Given the description of an element on the screen output the (x, y) to click on. 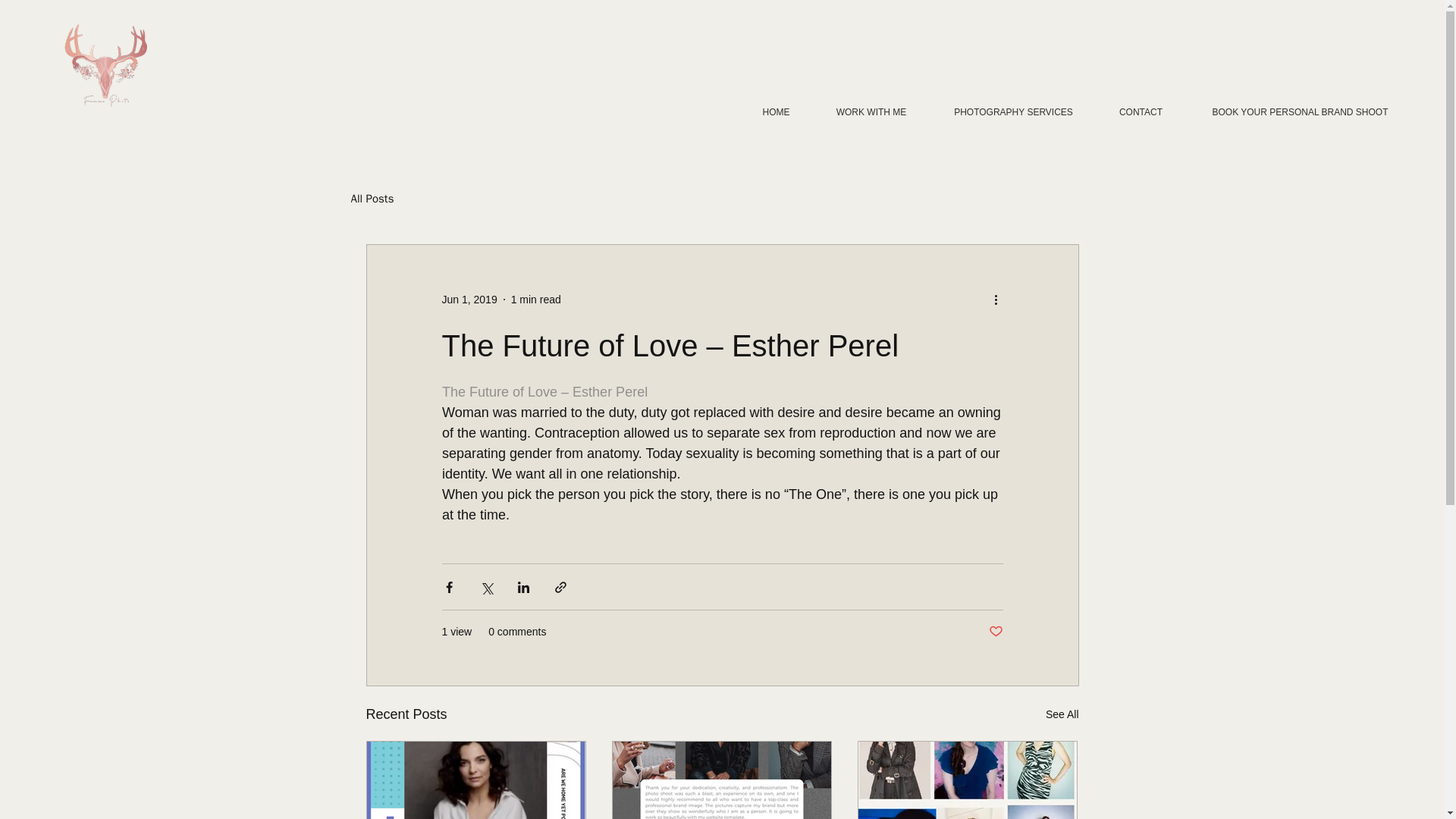
All Posts (371, 197)
MAIN LOGO 6.png (107, 65)
Post not marked as liked (995, 631)
WORK WITH ME (871, 111)
HOME (775, 111)
1 min read (535, 298)
Jun 1, 2019 (468, 298)
See All (1061, 714)
CONTACT (1140, 111)
PHOTOGRAPHY SERVICES (1013, 111)
BOOK YOUR PERSONAL BRAND SHOOT (1300, 111)
